Given the description of an element on the screen output the (x, y) to click on. 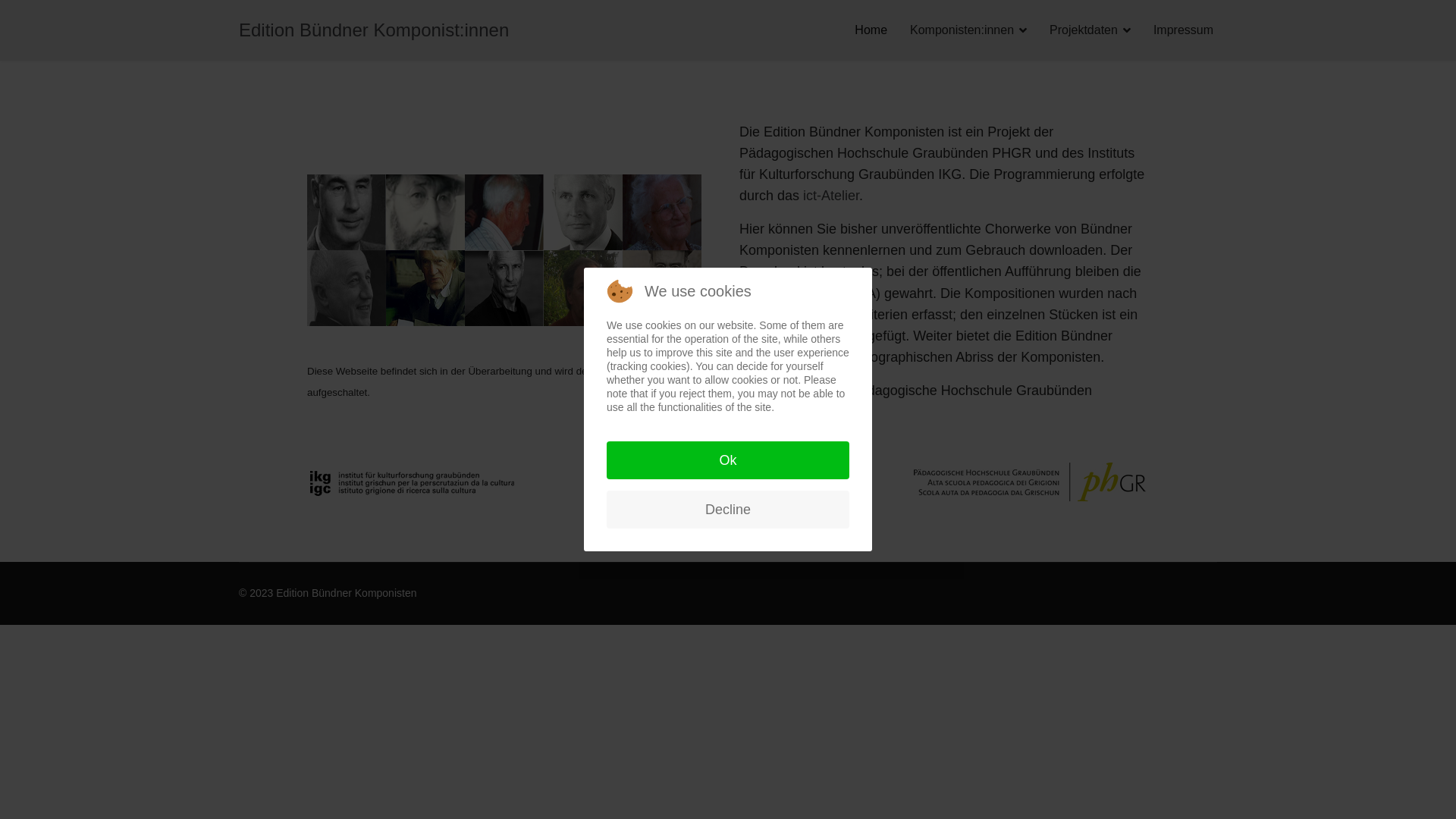
Ok Element type: text (727, 460)
Decline Element type: text (727, 509)
Home Element type: text (870, 30)
Komponisten:innen Element type: text (968, 30)
ict-Atelier Element type: text (831, 195)
Projektdaten Element type: text (1090, 30)
Impressum Element type: text (1177, 30)
